Given the description of an element on the screen output the (x, y) to click on. 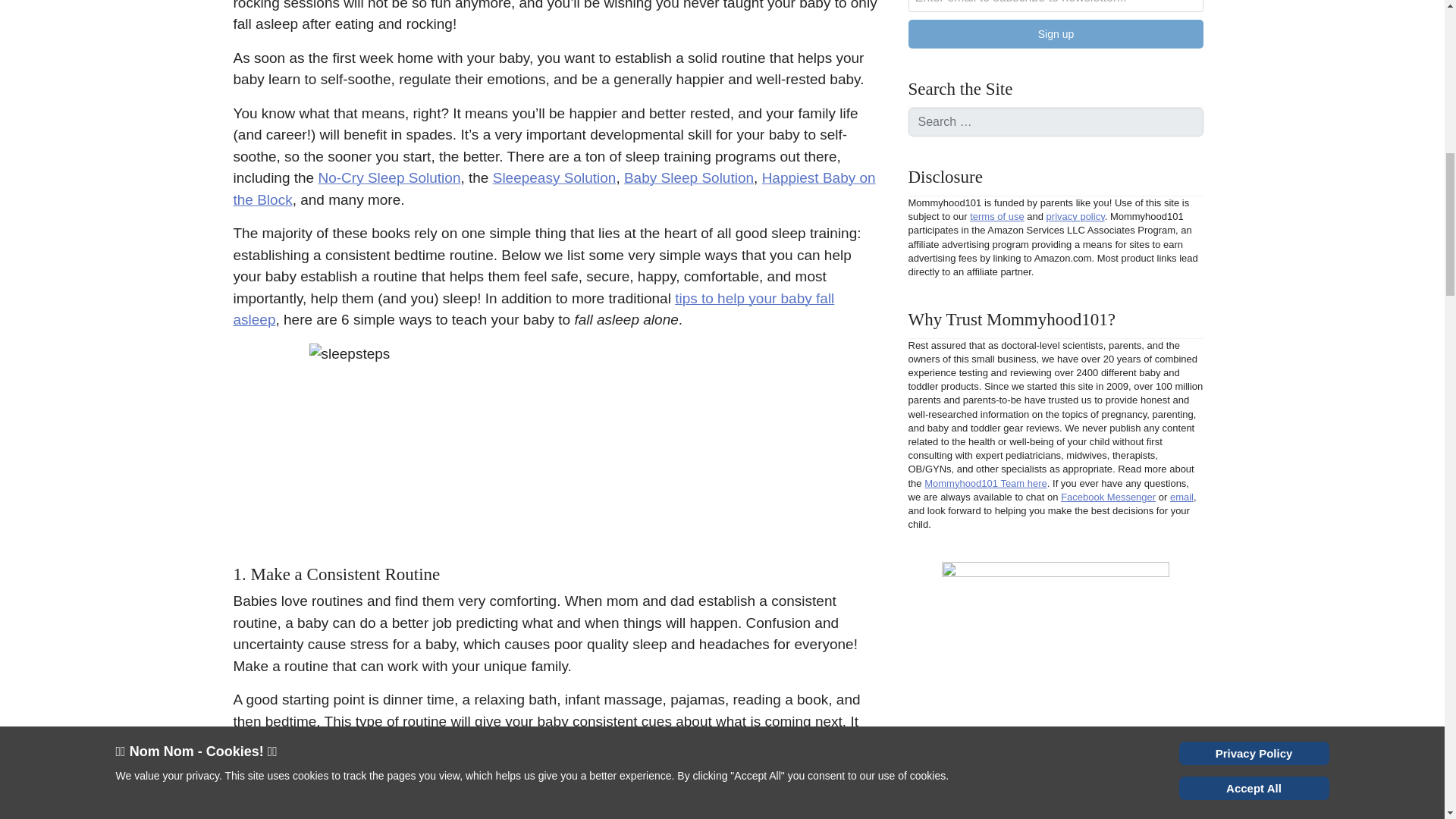
Baby Sleep Solution (689, 177)
Sleepeasy Solution (554, 177)
Happiest Baby on the Block (554, 188)
No-Cry Sleep Solution (388, 177)
tips to help your baby fall asleep (533, 309)
